Given the description of an element on the screen output the (x, y) to click on. 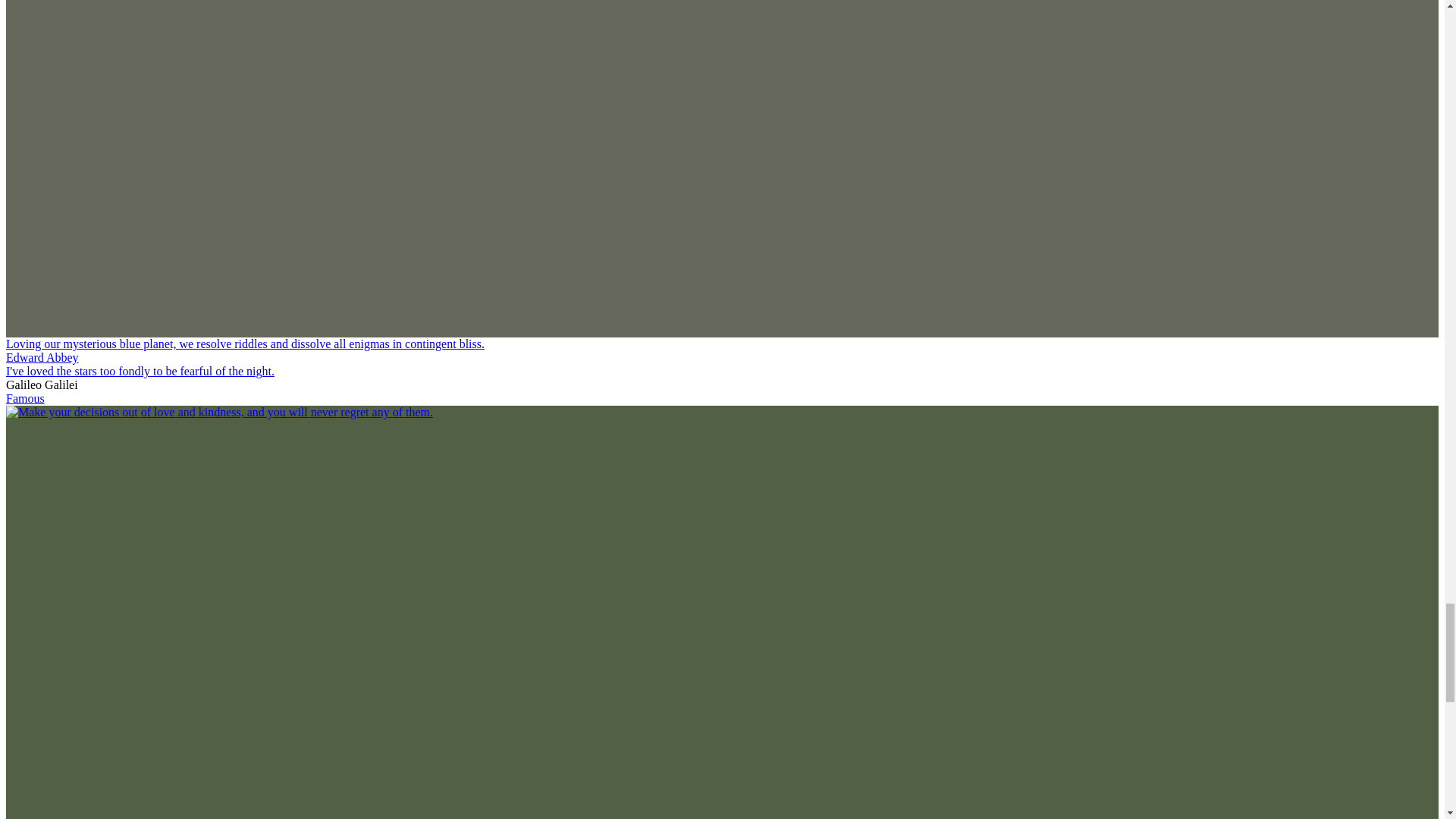
see quote (244, 343)
see quote (218, 411)
see quote (140, 370)
